Given the description of an element on the screen output the (x, y) to click on. 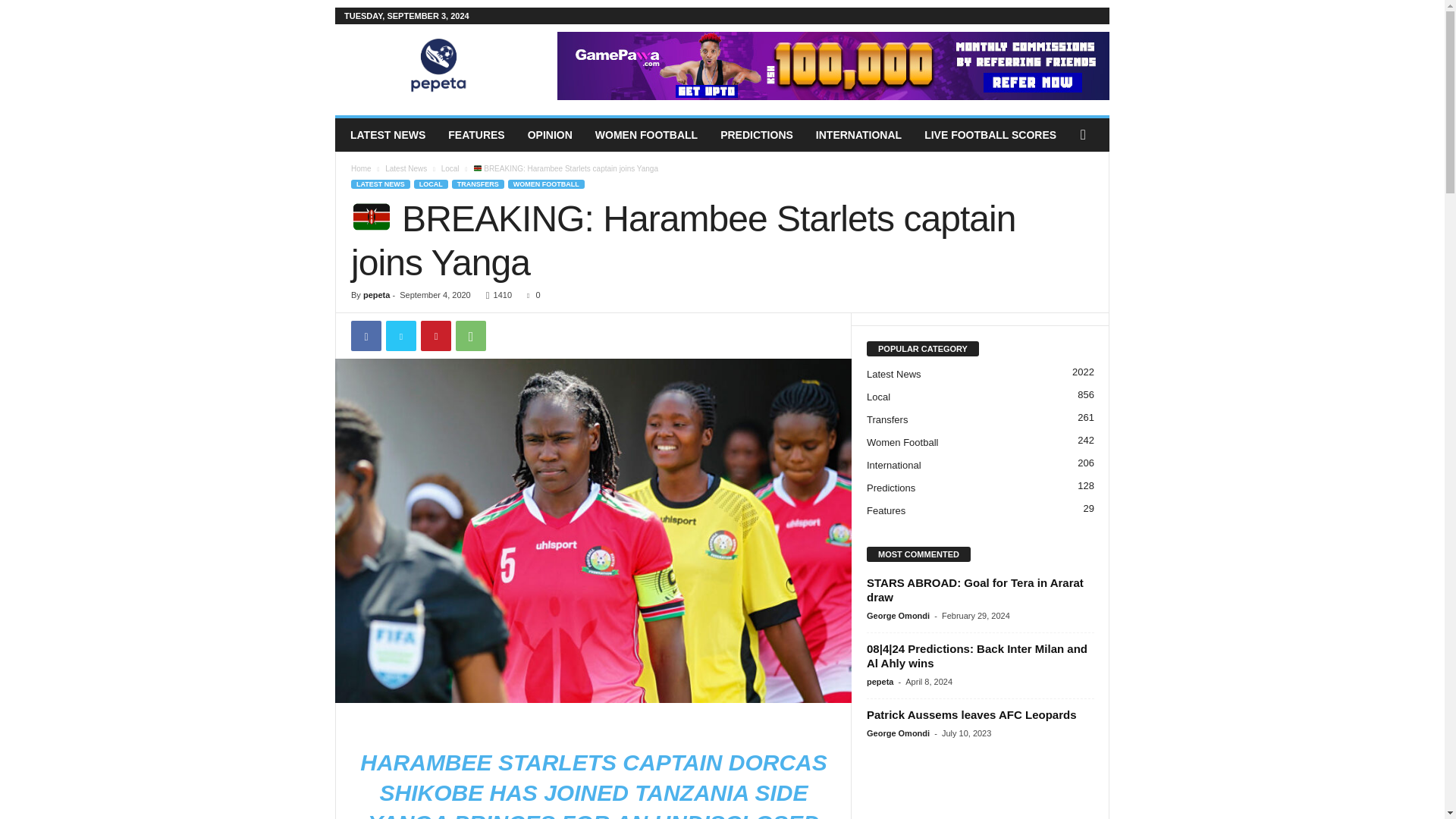
Twitter (400, 336)
View all posts in Local (450, 168)
OPINION (549, 134)
FEATURES (475, 134)
Pinterest (435, 336)
Home (360, 168)
LATEST NEWS (387, 134)
LOCAL (430, 184)
WOMEN FOOTBALL (546, 184)
WOMEN FOOTBALL (646, 134)
